Given the description of an element on the screen output the (x, y) to click on. 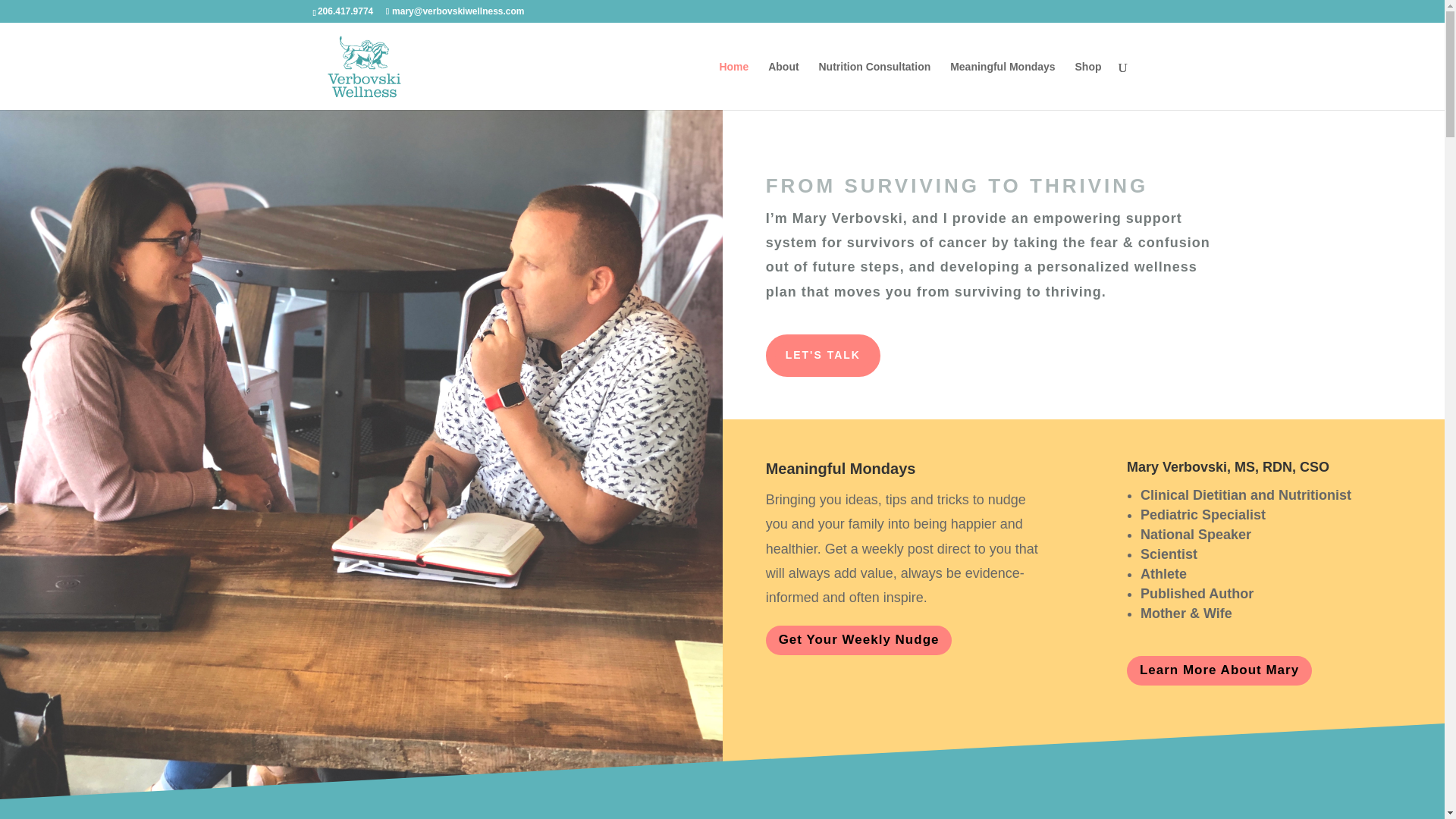
Meaningful Mondays (1002, 85)
Learn More About Mary (1218, 670)
Nutrition Consultation (874, 85)
LET'S TALK (822, 355)
Get Your Weekly Nudge (858, 640)
